Given the description of an element on the screen output the (x, y) to click on. 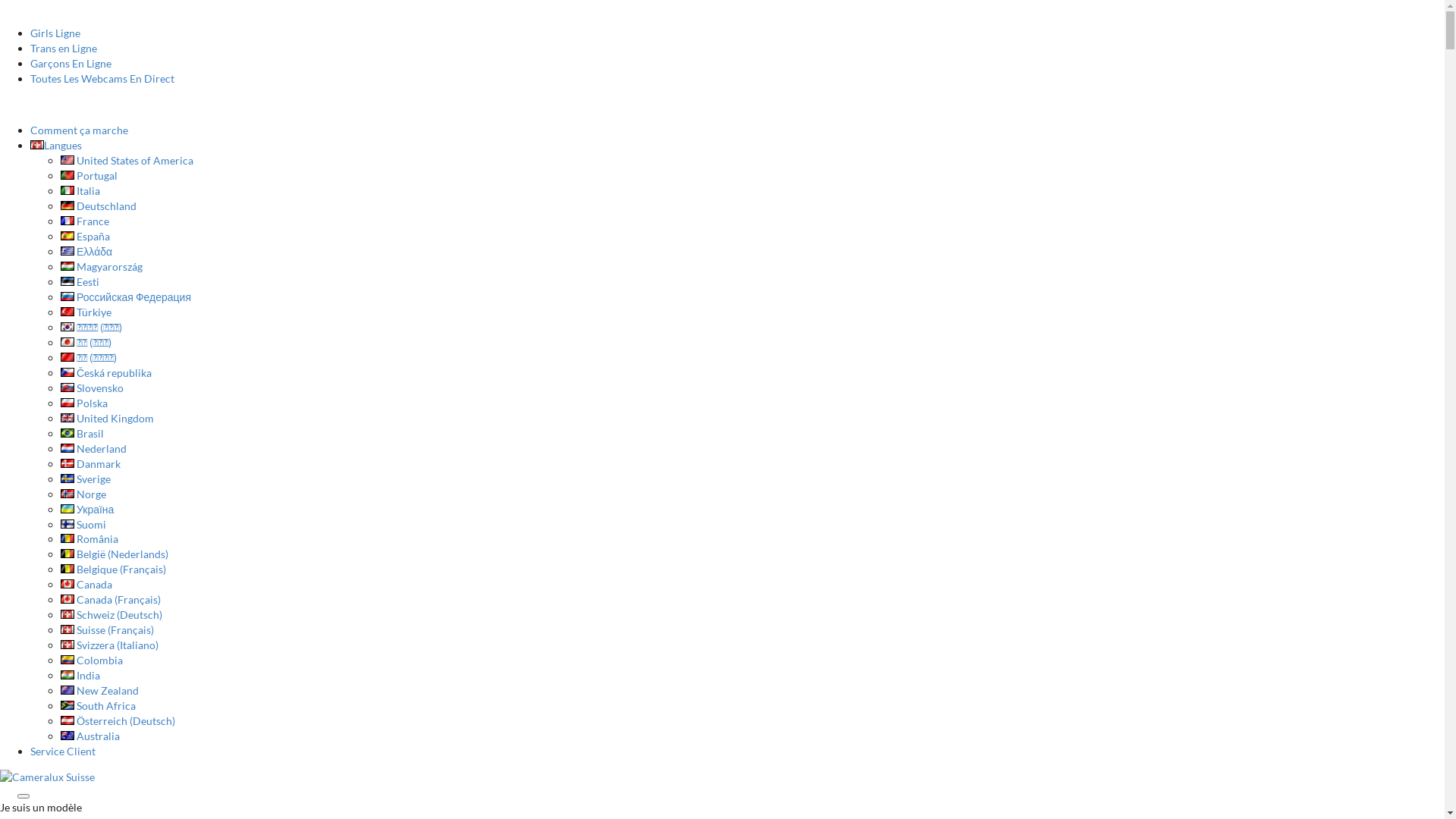
Toutes Les Webcams En Direct Element type: text (102, 78)
Nederland Element type: text (93, 448)
Schweiz (Deutsch) Element type: text (111, 614)
Deutschland Element type: text (98, 205)
Australia Element type: text (89, 735)
United Kingdom Element type: text (106, 417)
Norge Element type: text (83, 493)
India Element type: text (80, 674)
Portugal Element type: text (88, 175)
Girls Ligne Element type: text (55, 32)
Colombia Element type: text (91, 659)
Danmark Element type: text (90, 463)
South Africa Element type: text (97, 705)
Polska Element type: text (83, 402)
Suomi Element type: text (83, 523)
Sverige Element type: text (85, 478)
Canada Element type: text (86, 583)
Trans en Ligne Element type: text (63, 47)
France Element type: text (84, 220)
Svizzera (Italiano) Element type: text (109, 644)
Brasil Element type: text (81, 432)
New Zealand Element type: text (99, 690)
United States of America Element type: text (126, 159)
Langues Element type: text (55, 144)
Service Client Element type: text (62, 750)
Eesti Element type: text (79, 281)
Slovensko Element type: text (91, 387)
  Element type: text (1, 103)
Italia Element type: text (80, 190)
